Given the description of an element on the screen output the (x, y) to click on. 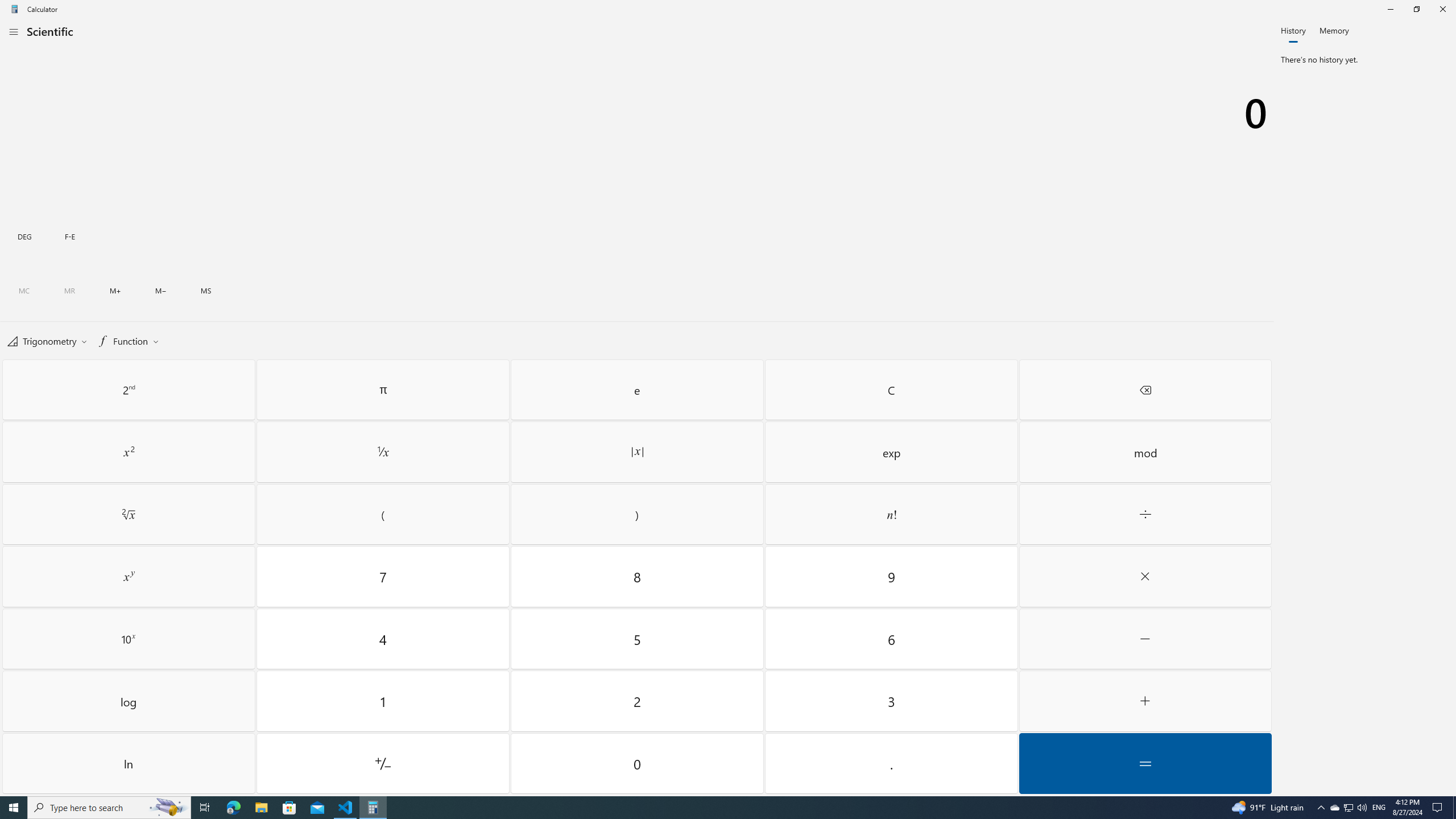
Left parenthesis (382, 514)
Log (128, 701)
Five (637, 638)
Minus (1145, 638)
Exponential (890, 452)
Memory subtract (160, 290)
One (382, 701)
Six (890, 638)
Memory recall (69, 290)
Trigonometry (46, 340)
Plus (1145, 701)
Memory add (115, 290)
Equals (1145, 763)
